Given the description of an element on the screen output the (x, y) to click on. 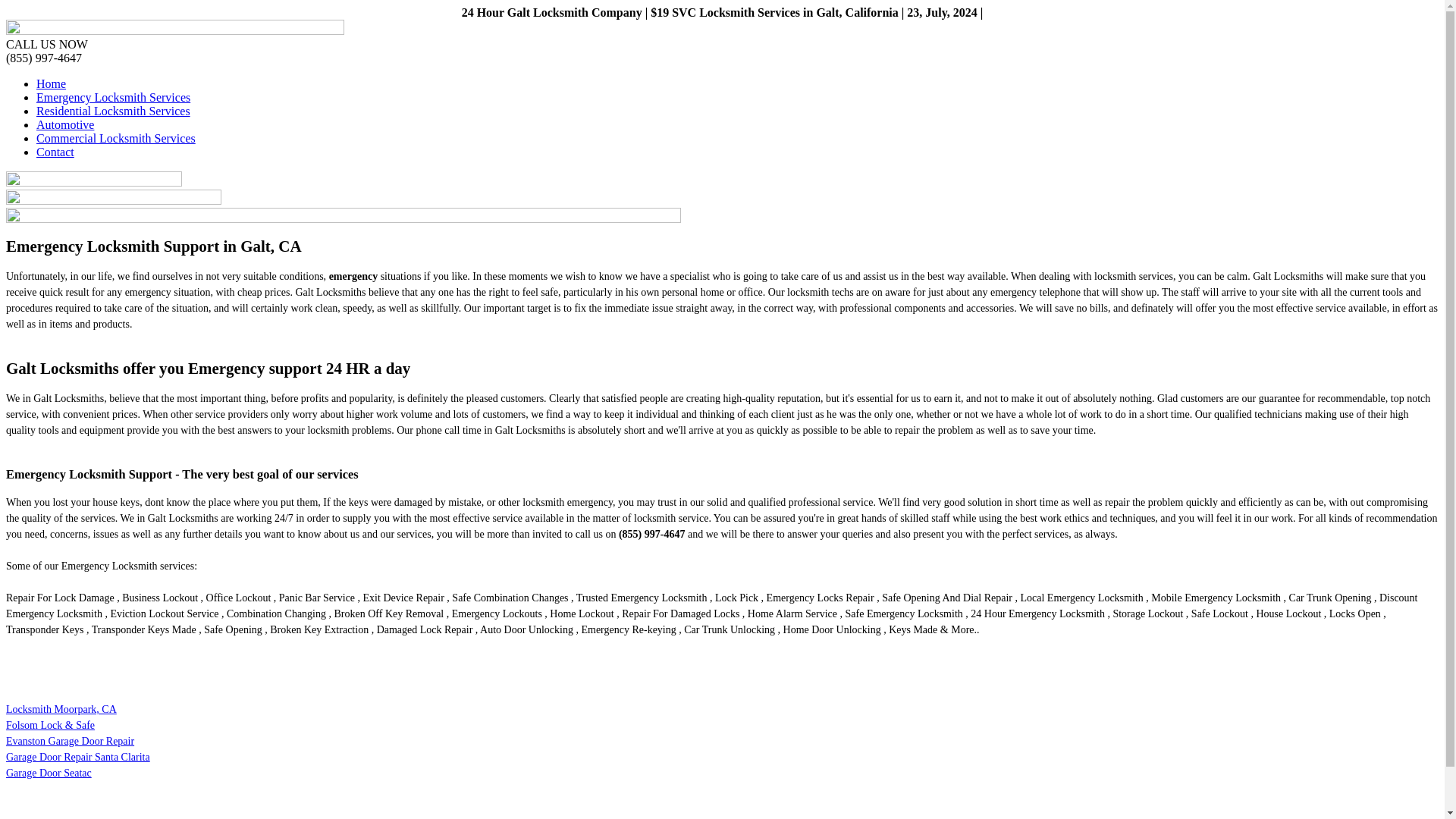
Residential Locksmith Services (113, 110)
Commercial Locksmith Services (115, 137)
Galt Locksmiths (174, 30)
Garage Door Repair Santa Clarita  (77, 756)
Contact (55, 151)
Garage Door Repair Santa Clarita (77, 756)
Evanston Garage Door Repair (69, 740)
Commercial Locksmith Services (115, 137)
Automotive (65, 124)
Emergency Locksmith Services (113, 97)
Home (50, 83)
Emergency Locksmith Services (113, 97)
Garage Door Seatac (48, 772)
Evanston Garage Door Repair (69, 740)
Home (50, 83)
